Given the description of an element on the screen output the (x, y) to click on. 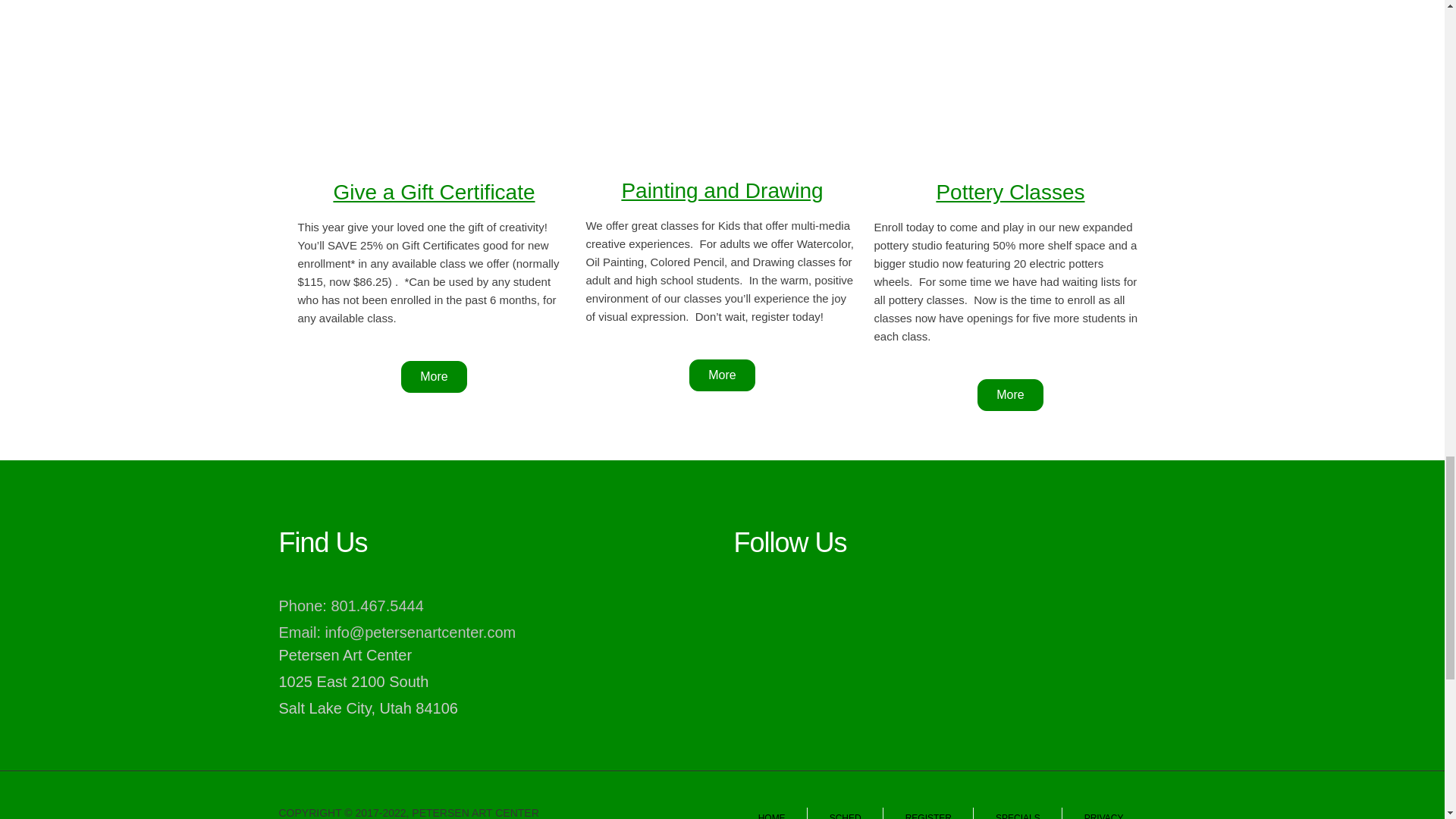
Painting and Drawing (721, 190)
Phone: 801.467.5444 (351, 605)
Give a Gift Certificate (433, 191)
More (721, 375)
More (433, 377)
Pottery Classes (1010, 191)
More (1009, 395)
